Given the description of an element on the screen output the (x, y) to click on. 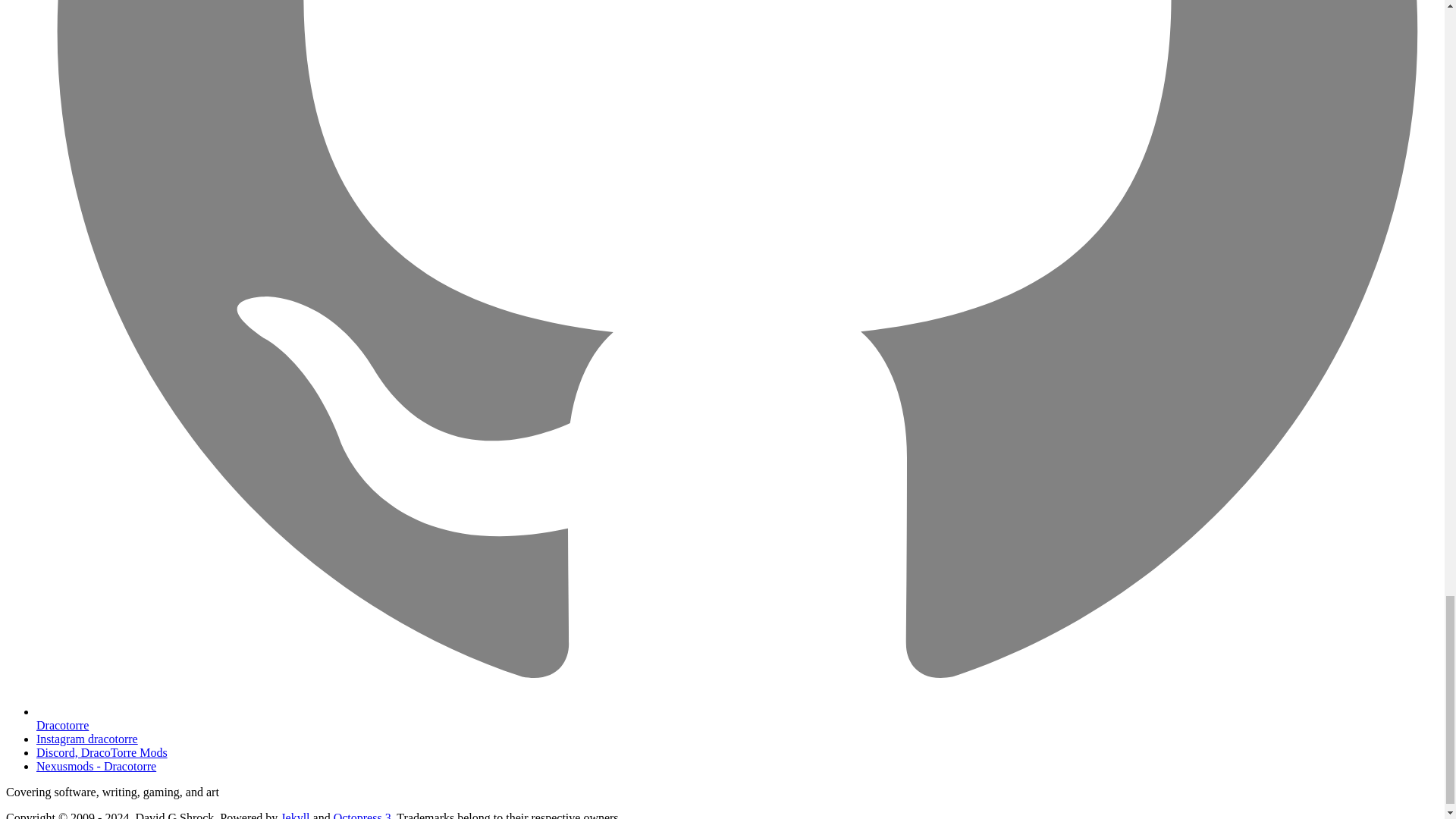
Nexusmods - Dracotorre (95, 766)
Discord, DracoTorre Mods (101, 752)
Instagram dracotorre (87, 738)
